Given the description of an element on the screen output the (x, y) to click on. 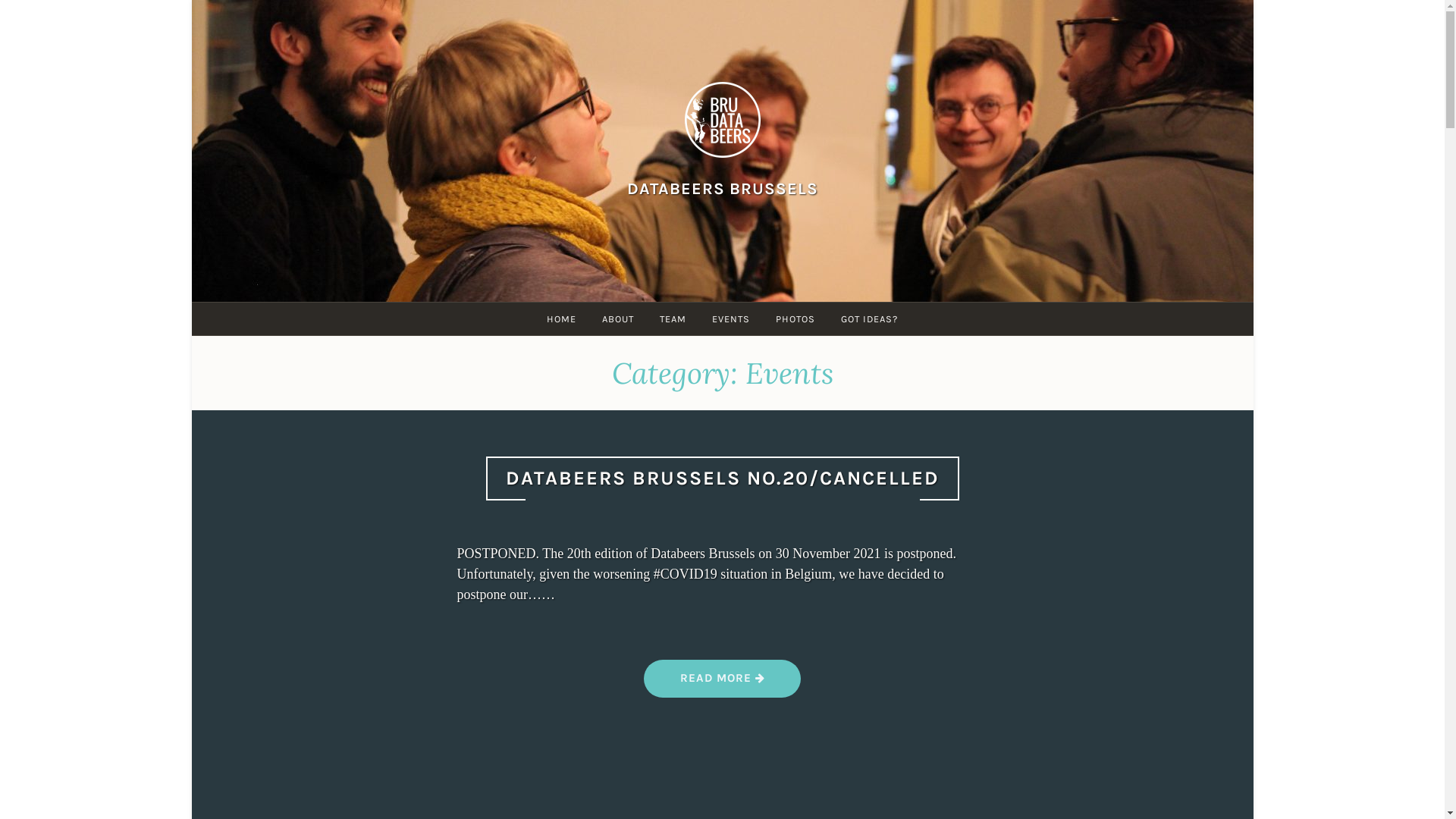
DATABEERS BRUSSELS NO.20/CANCELLED Element type: text (721, 478)
ABOUT Element type: text (617, 318)
EVENTS Element type: text (730, 318)
PHOTOS Element type: text (795, 318)
TEAM Element type: text (672, 318)
GOT IDEAS? Element type: text (869, 318)
HOME Element type: text (561, 318)
DATABEERS BRUSSELS Element type: text (721, 187)
